Given the description of an element on the screen output the (x, y) to click on. 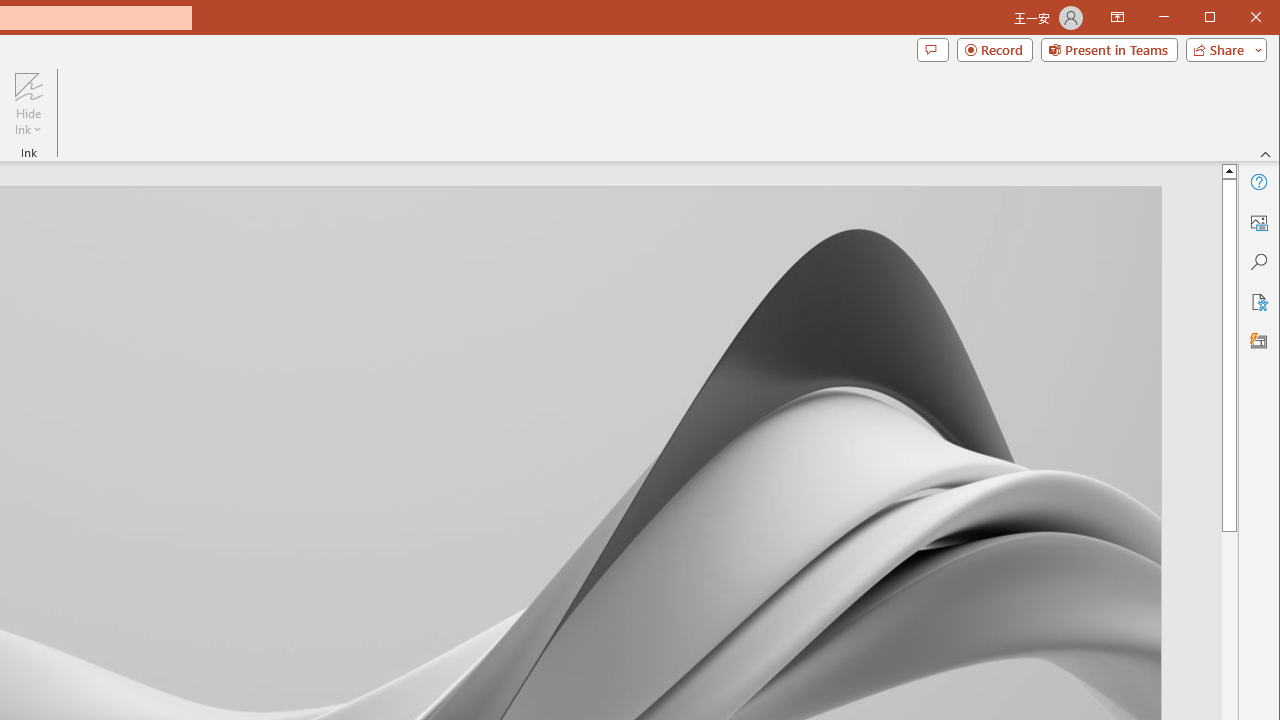
Search (1258, 261)
Line up (1229, 170)
Hide Ink (28, 86)
Designer (1258, 341)
Alt Text (1258, 221)
Hide Ink (28, 104)
